Given the description of an element on the screen output the (x, y) to click on. 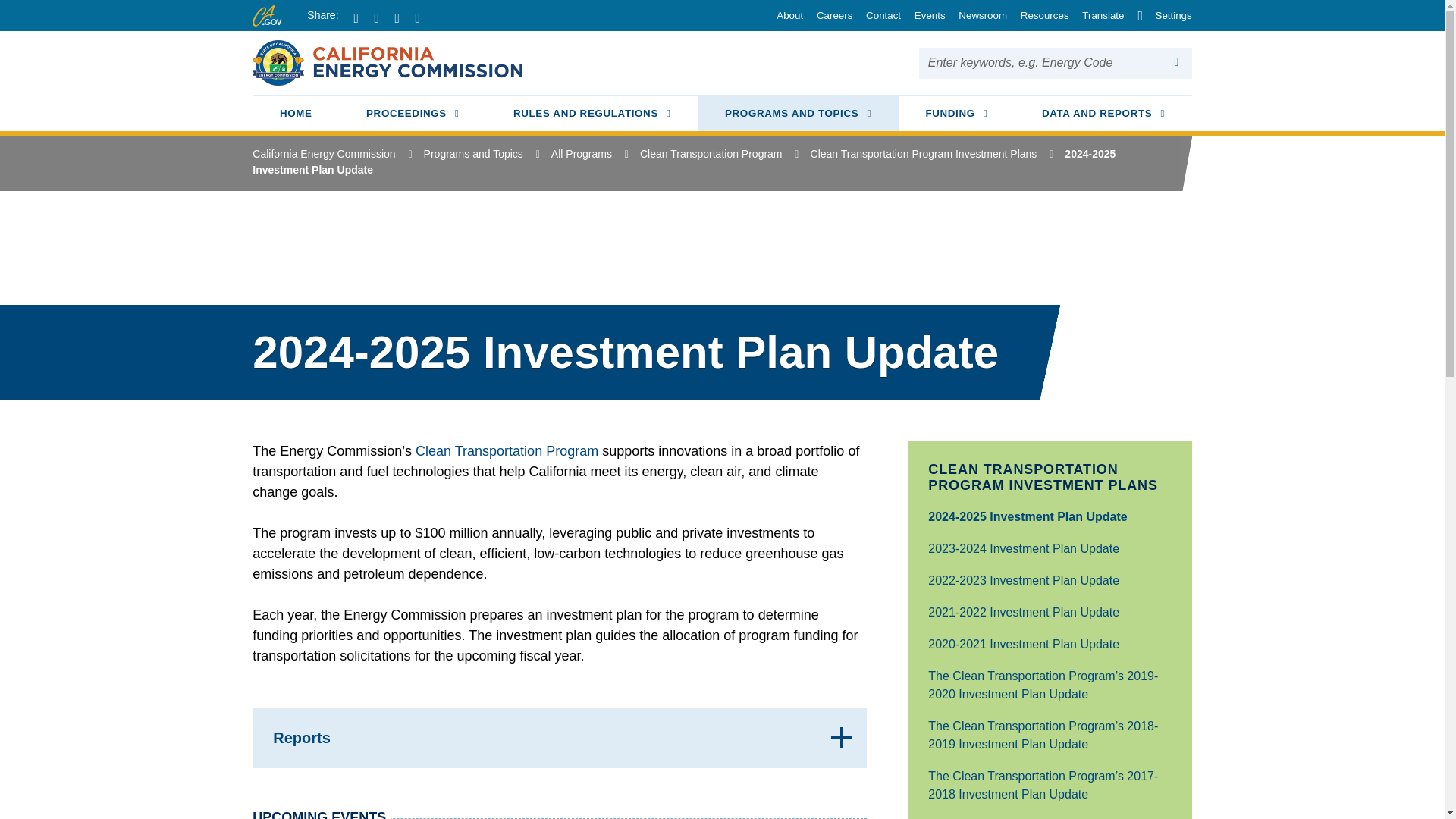
Careers (829, 15)
Share via LinkedIn (403, 18)
Share via Email (591, 115)
Newsroom (423, 18)
Events (412, 115)
HOME (978, 15)
Share via Facebook (924, 15)
SEARCH (295, 115)
